Given the description of an element on the screen output the (x, y) to click on. 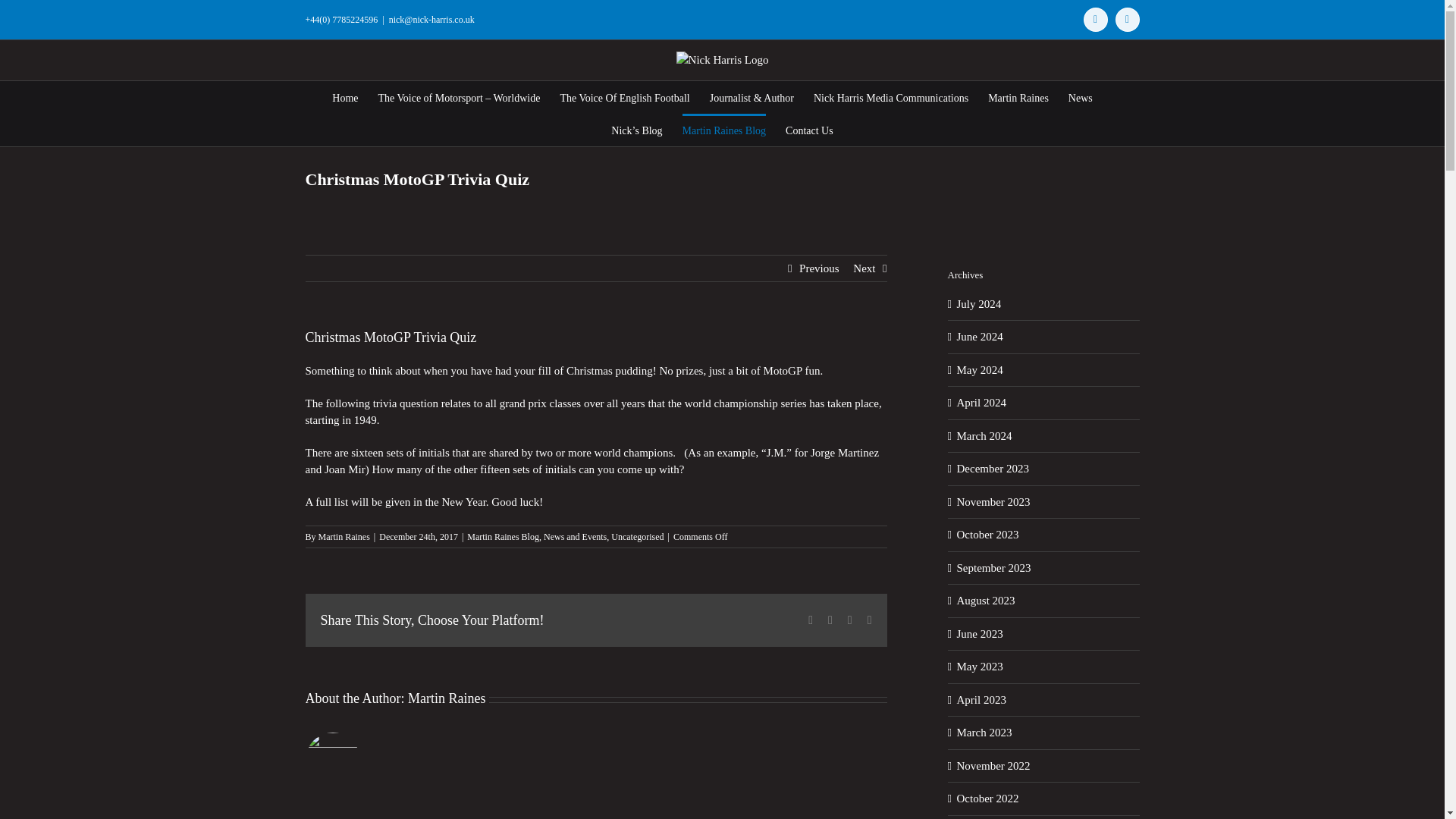
May 2024 (979, 369)
Next (864, 267)
August 2023 (985, 600)
Home (344, 96)
Facebook (810, 620)
X (830, 620)
The Voice Of English Football (623, 96)
Posts by Martin Raines (445, 698)
X (1126, 19)
Vimeo (1094, 19)
April 2024 (981, 402)
July 2024 (978, 304)
Martin Raines Blog (502, 536)
Facebook (810, 620)
LinkedIn (849, 620)
